Given the description of an element on the screen output the (x, y) to click on. 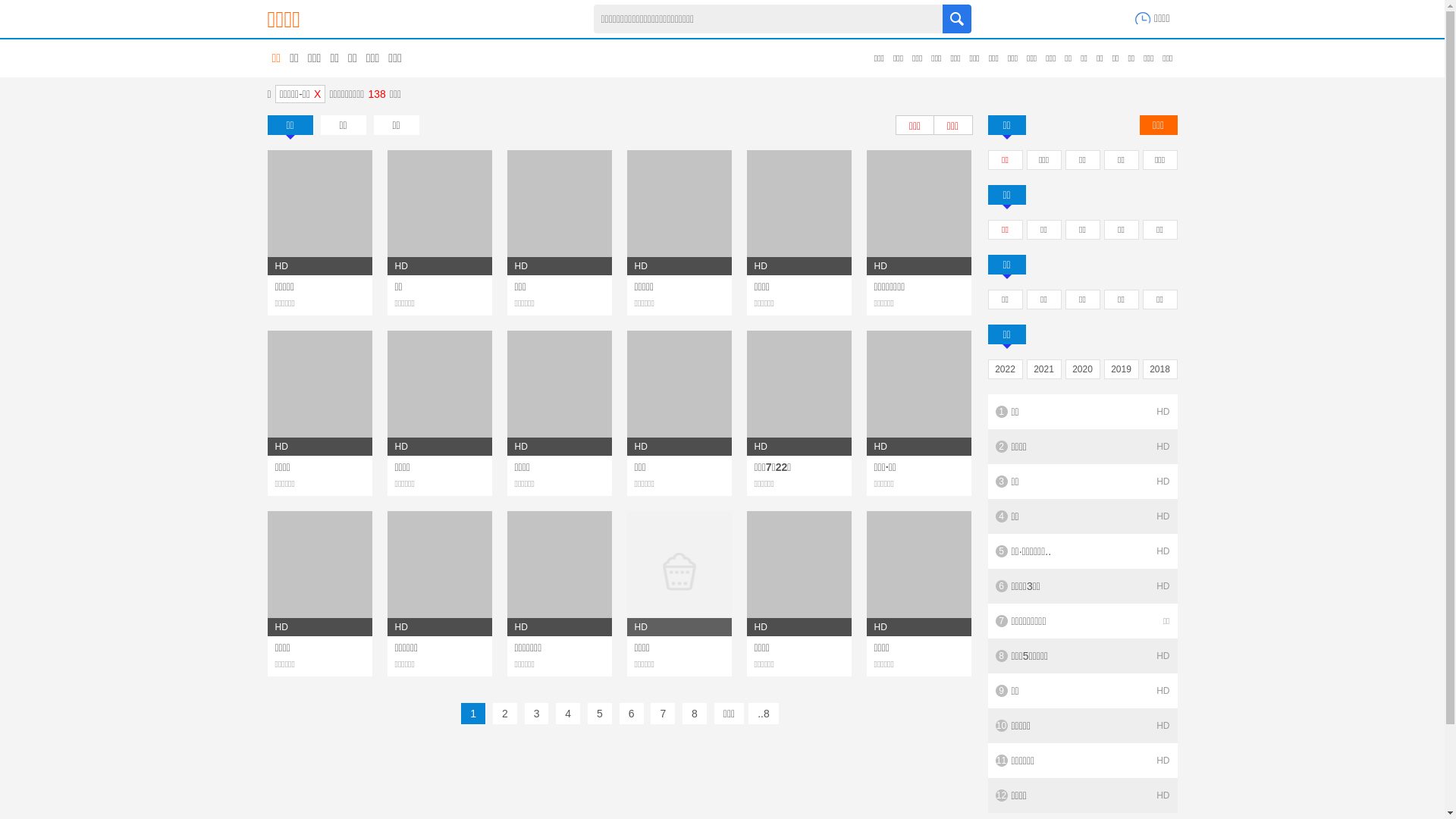
2 Element type: text (504, 713)
..8 Element type: text (763, 713)
2021 Element type: text (1043, 369)
8 Element type: text (694, 713)
2018 Element type: text (1159, 369)
2020 Element type: text (1082, 369)
2019 Element type: text (1120, 369)
7 Element type: text (662, 713)
4 Element type: text (567, 713)
6 Element type: text (631, 713)
2022 Element type: text (1005, 369)
3 Element type: text (536, 713)
5 Element type: text (599, 713)
